Given the description of an element on the screen output the (x, y) to click on. 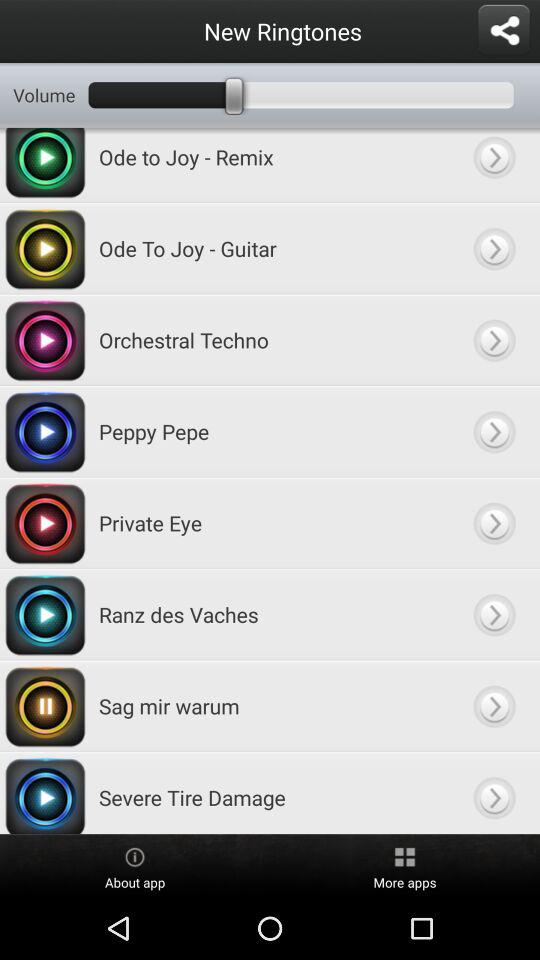
go option (494, 339)
